Given the description of an element on the screen output the (x, y) to click on. 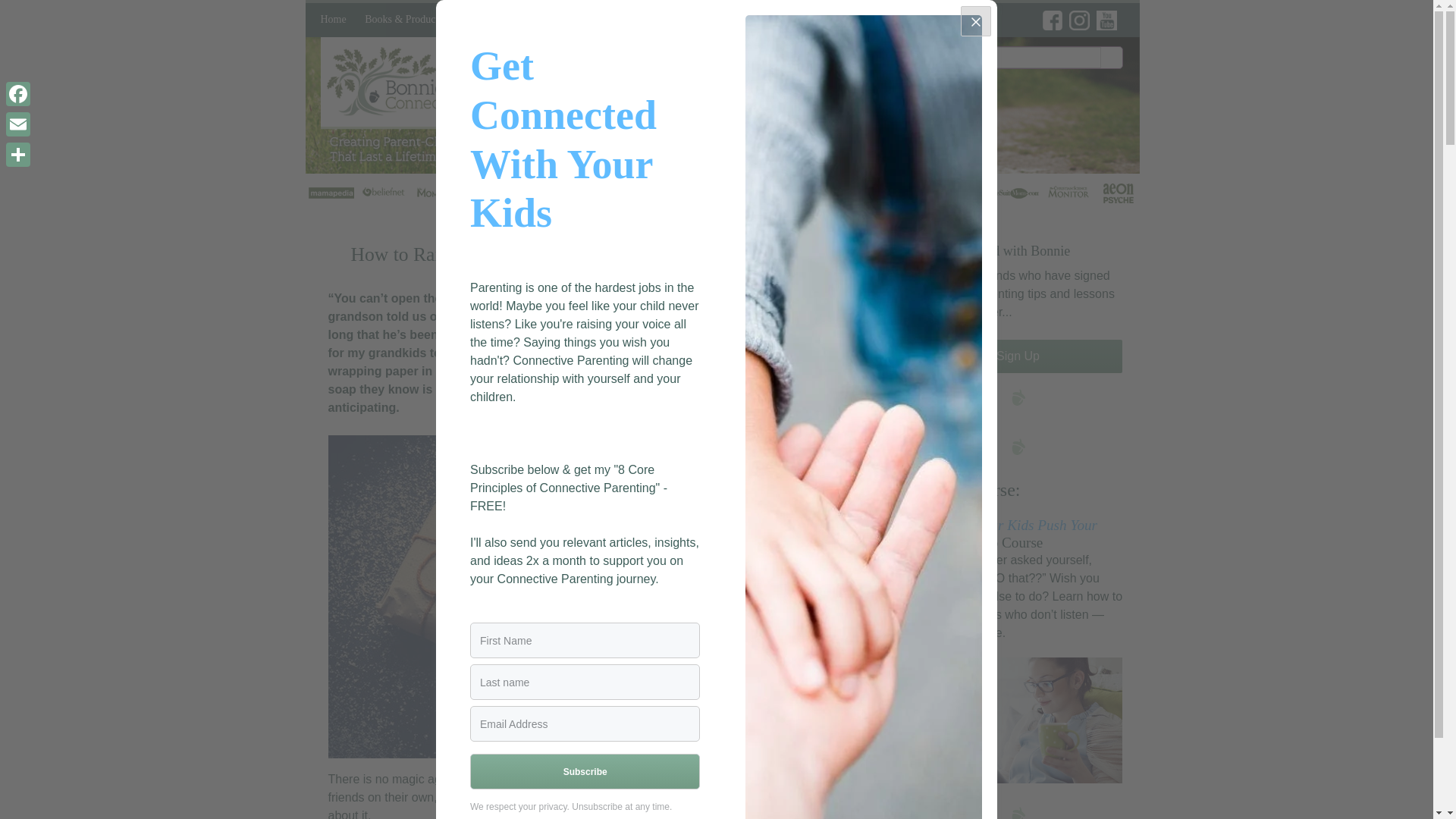
Home (333, 19)
Podcast (599, 19)
When Your Kids Push Your Buttons (1005, 533)
Resources (655, 19)
Audio Course: (967, 489)
About (709, 19)
How Can Connective Parenting Help? (533, 58)
Sign Up (1018, 356)
About Bonnie Harris (769, 52)
Contact (758, 19)
